Given the description of an element on the screen output the (x, y) to click on. 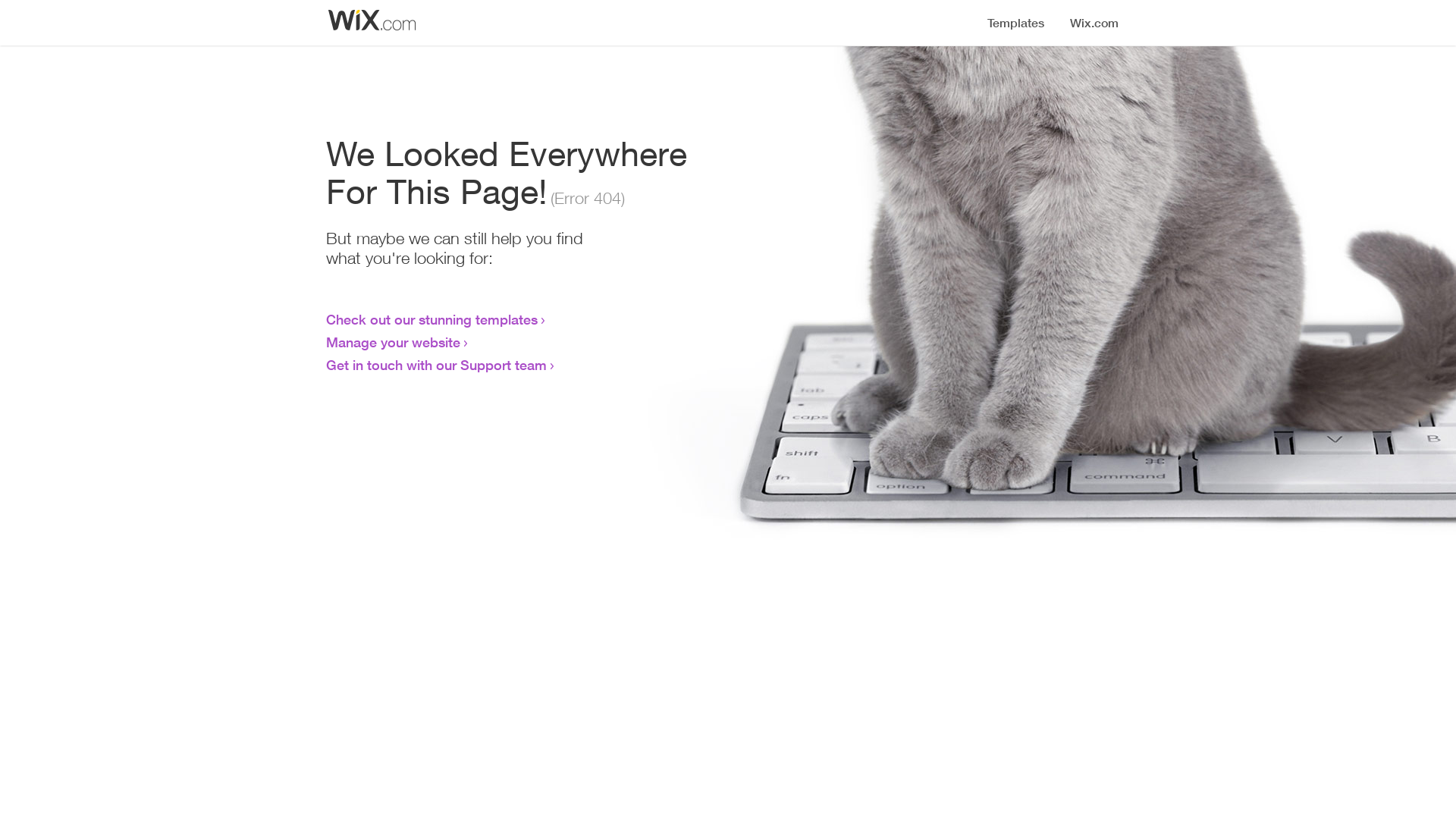
Check out our stunning templates Element type: text (431, 318)
Manage your website Element type: text (393, 341)
Get in touch with our Support team Element type: text (436, 364)
